Given the description of an element on the screen output the (x, y) to click on. 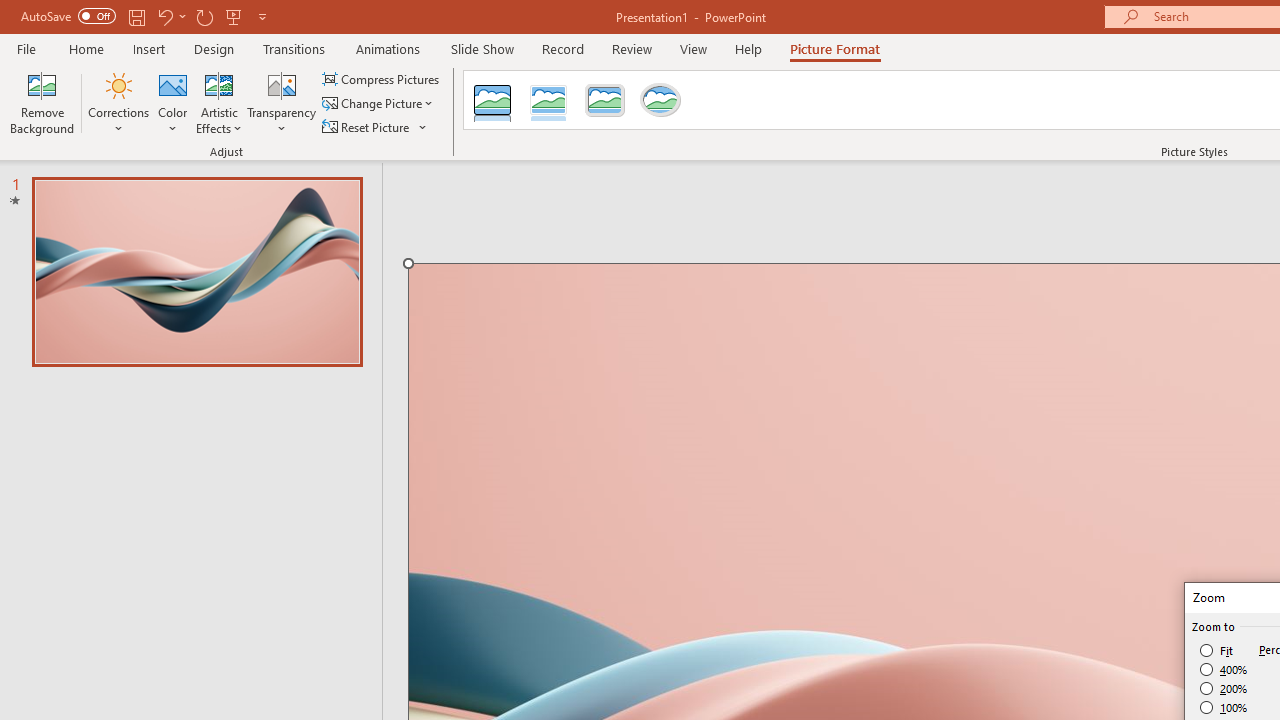
Metal Rounded Rectangle (605, 100)
Corrections (118, 102)
Fit (1217, 650)
Picture Format (834, 48)
